Given the description of an element on the screen output the (x, y) to click on. 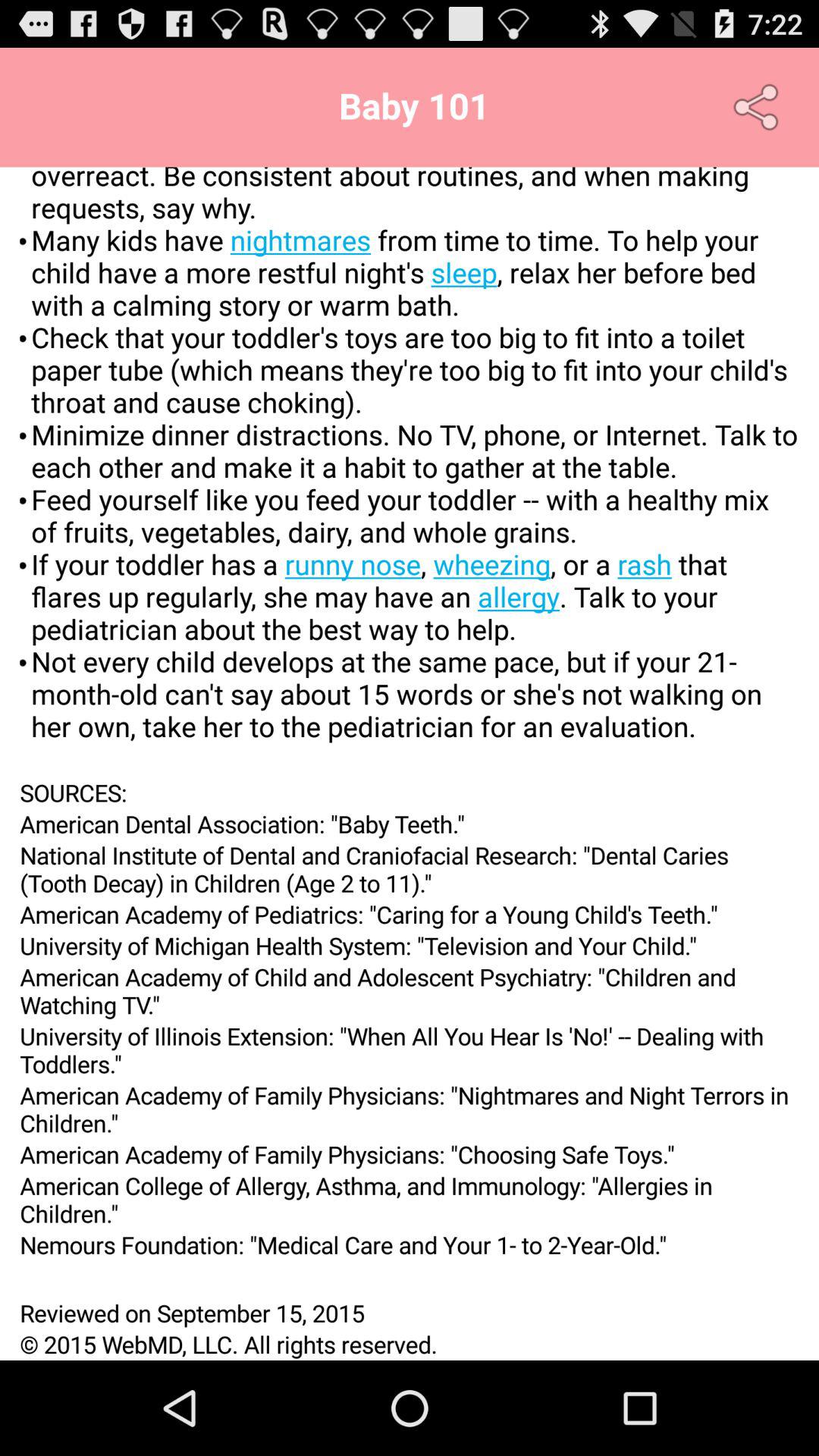
swipe to the sources: app (409, 792)
